Given the description of an element on the screen output the (x, y) to click on. 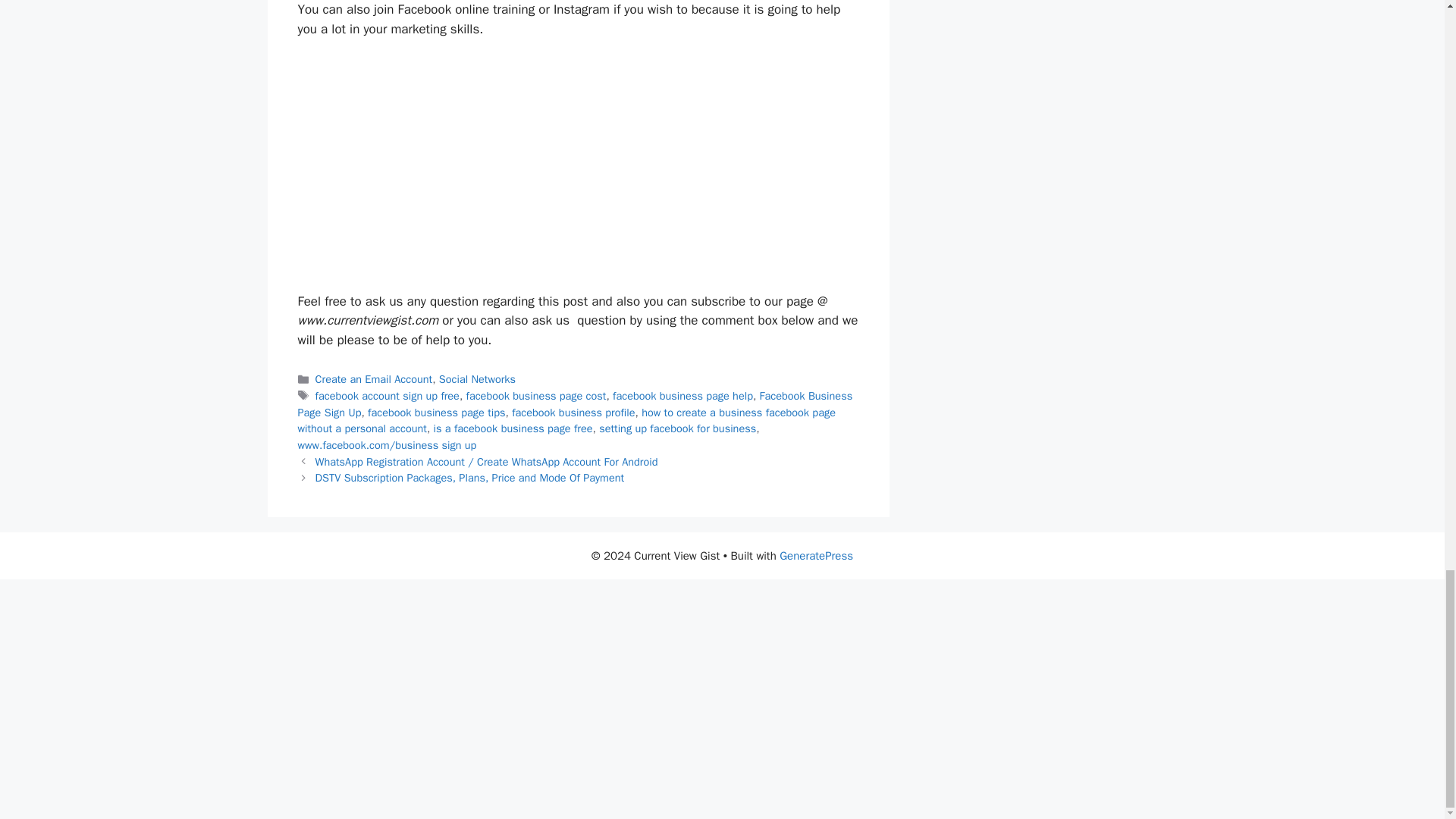
facebook business profile (573, 411)
Social Networks (477, 378)
Create an Email Account (373, 378)
Advertisement (722, 699)
Facebook Business Page Sign Up (574, 404)
facebook business page help (682, 395)
facebook business page tips (436, 411)
facebook account sign up free (387, 395)
DSTV Subscription Packages, Plans, Price and Mode Of Payment (469, 477)
setting up facebook for business (676, 427)
Advertisement (577, 171)
is a facebook business page free (512, 427)
facebook business page cost (536, 395)
GeneratePress (815, 555)
